Given the description of an element on the screen output the (x, y) to click on. 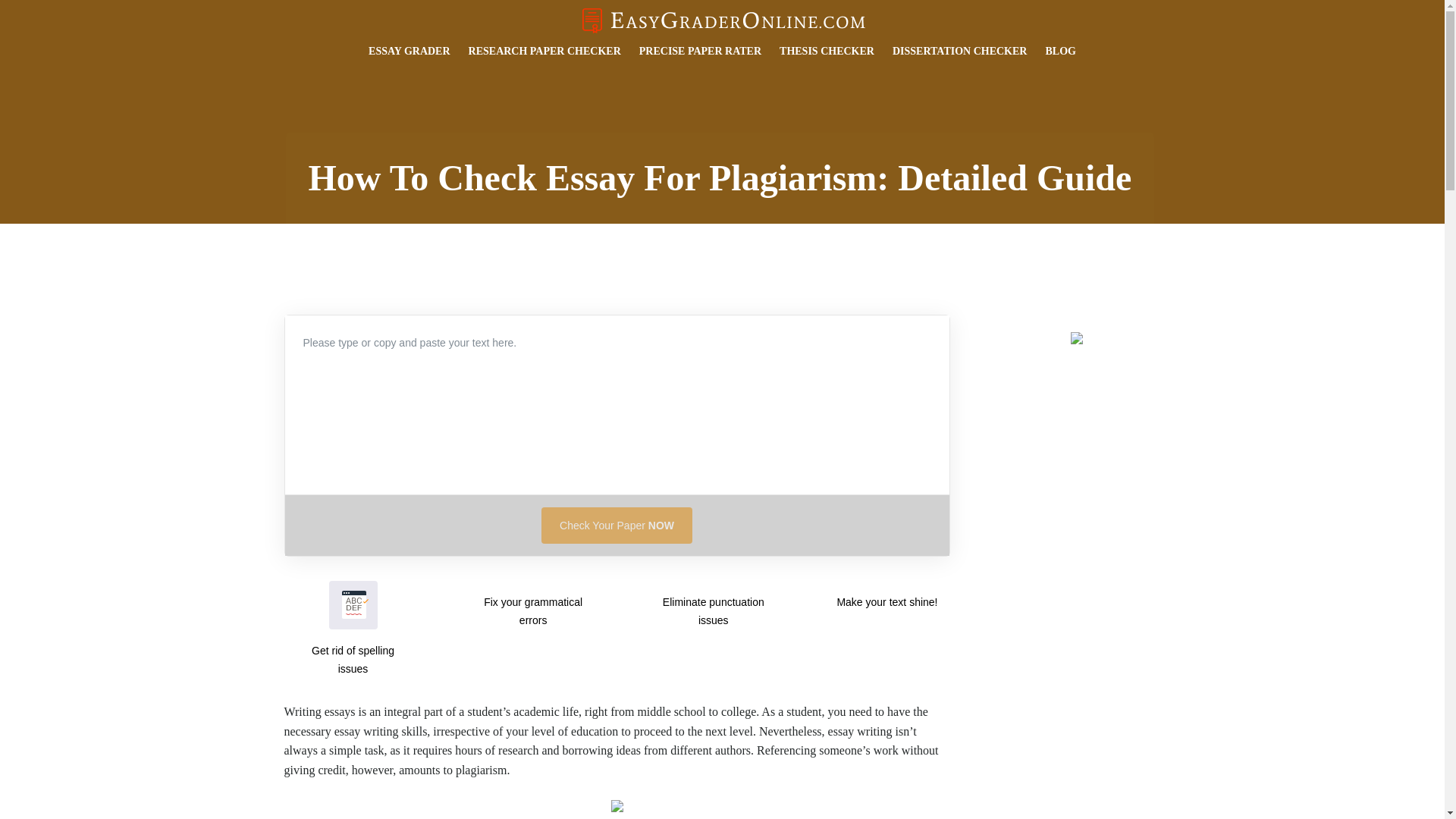
RESEARCH PAPER CHECKER (544, 50)
BLOG (1060, 50)
ESSAY GRADER (408, 50)
DISSERTATION CHECKER (959, 50)
PRECISE PAPER RATER (700, 50)
THESIS CHECKER (826, 50)
Check Your Paper NOW (617, 524)
